Given the description of an element on the screen output the (x, y) to click on. 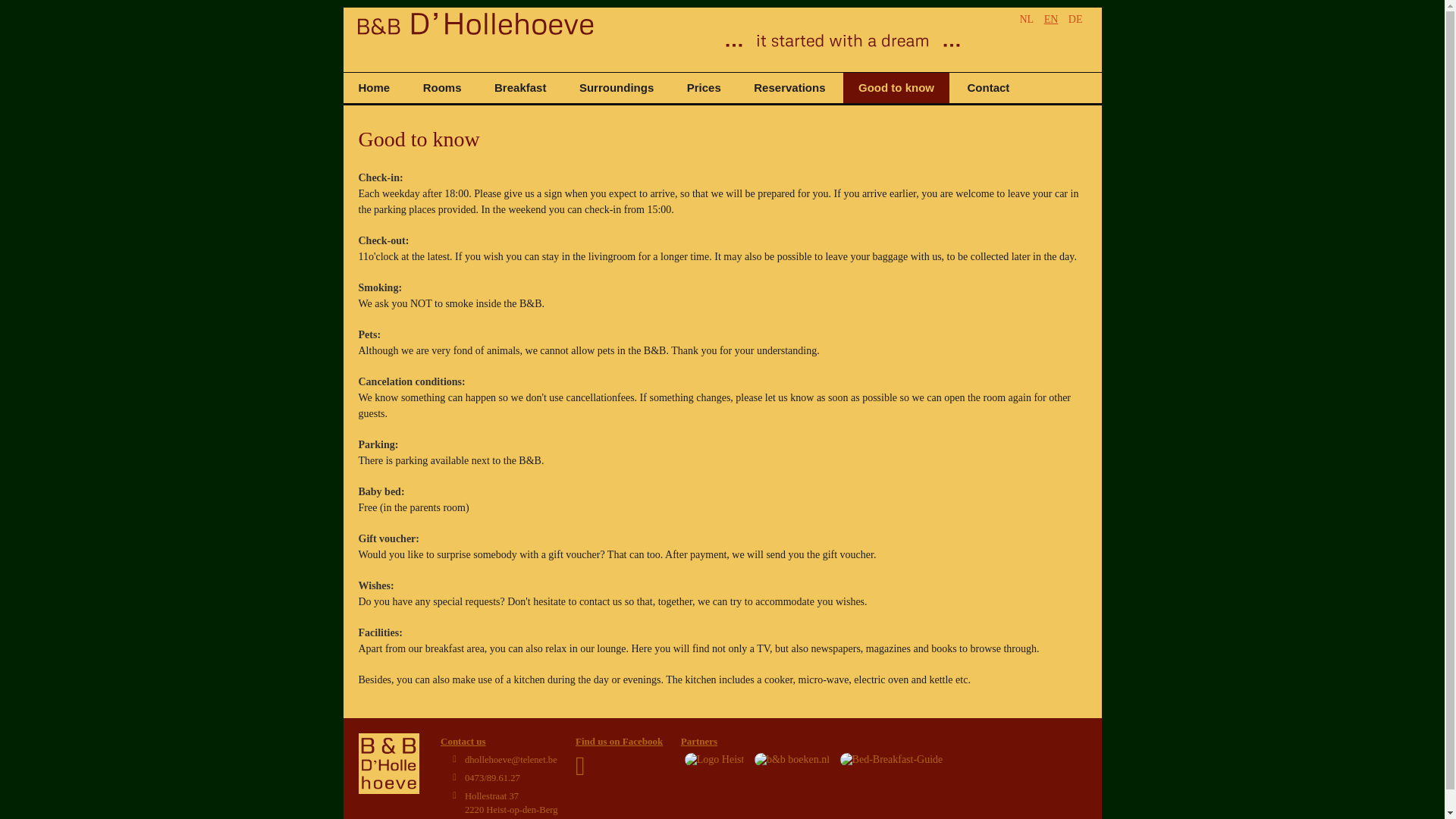
Home (373, 87)
nederlands (1025, 18)
Rooms (442, 87)
DE (1075, 18)
EN (1051, 18)
english (1051, 18)
Prices (703, 87)
Contact (988, 87)
Breakfast (519, 87)
Surroundings (616, 87)
Good to know (896, 87)
Reservations (510, 802)
NL (789, 87)
deutsch (1025, 18)
